Given the description of an element on the screen output the (x, y) to click on. 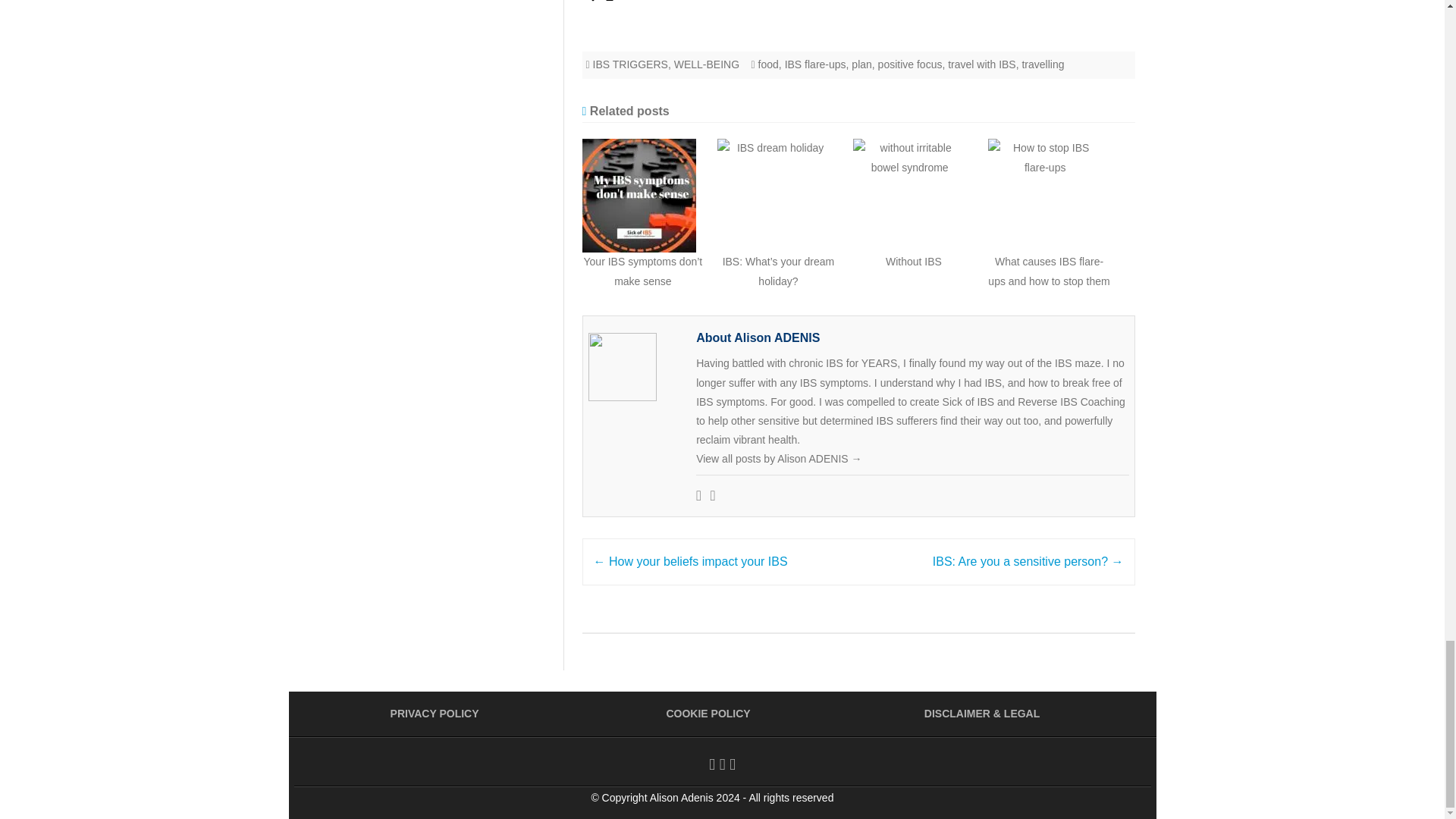
8 (597, 1)
WELL-BEING (706, 64)
Recommend this (597, 1)
positive focus (909, 64)
plan (860, 64)
food (768, 64)
IBS flare-ups (814, 64)
travel with IBS (980, 64)
IBS TRIGGERS (630, 64)
